Given the description of an element on the screen output the (x, y) to click on. 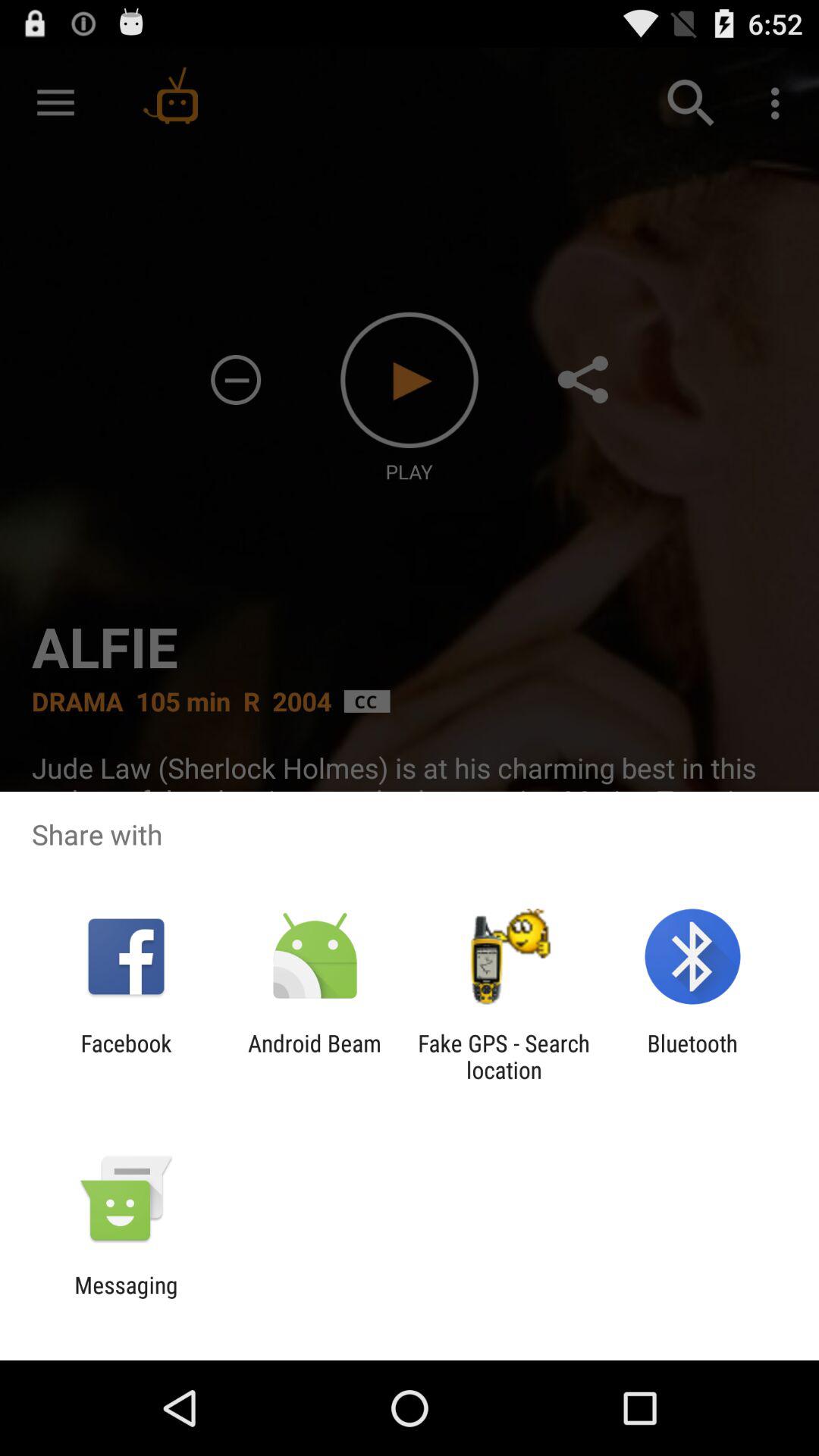
flip to bluetooth item (692, 1056)
